Given the description of an element on the screen output the (x, y) to click on. 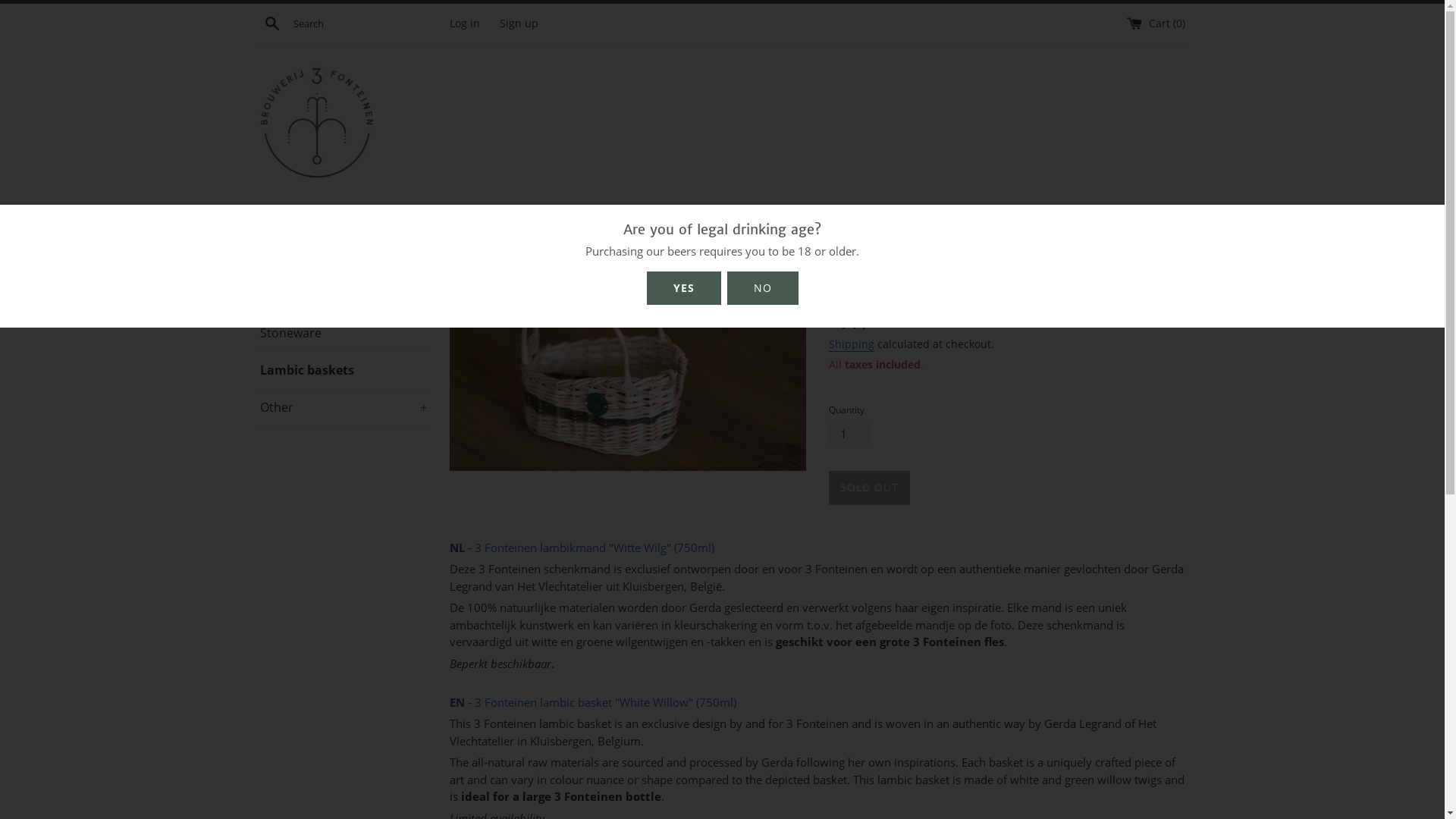
Stoneware Element type: text (342, 332)
YES Element type: text (683, 288)
Glassware Element type: text (342, 295)
Home Element type: text (464, 216)
NO Element type: text (762, 287)
Other
+ Element type: text (342, 407)
Shipping Element type: text (850, 343)
Lambic baskets Element type: text (531, 216)
Lambic beers Element type: text (342, 221)
SOLD OUT Element type: text (868, 487)
Garment
+ Element type: text (342, 258)
Log in Element type: text (463, 23)
Sign up Element type: text (517, 23)
NO Element type: text (761, 288)
Search Element type: text (271, 22)
Lambic baskets Element type: text (342, 369)
Cart (0) Element type: text (1155, 23)
